Given the description of an element on the screen output the (x, y) to click on. 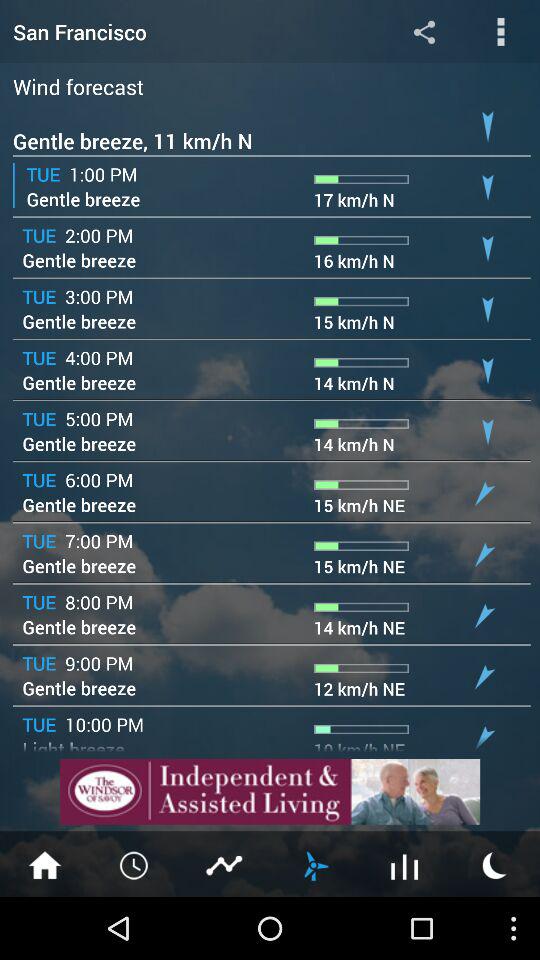
share this ap (424, 31)
